Given the description of an element on the screen output the (x, y) to click on. 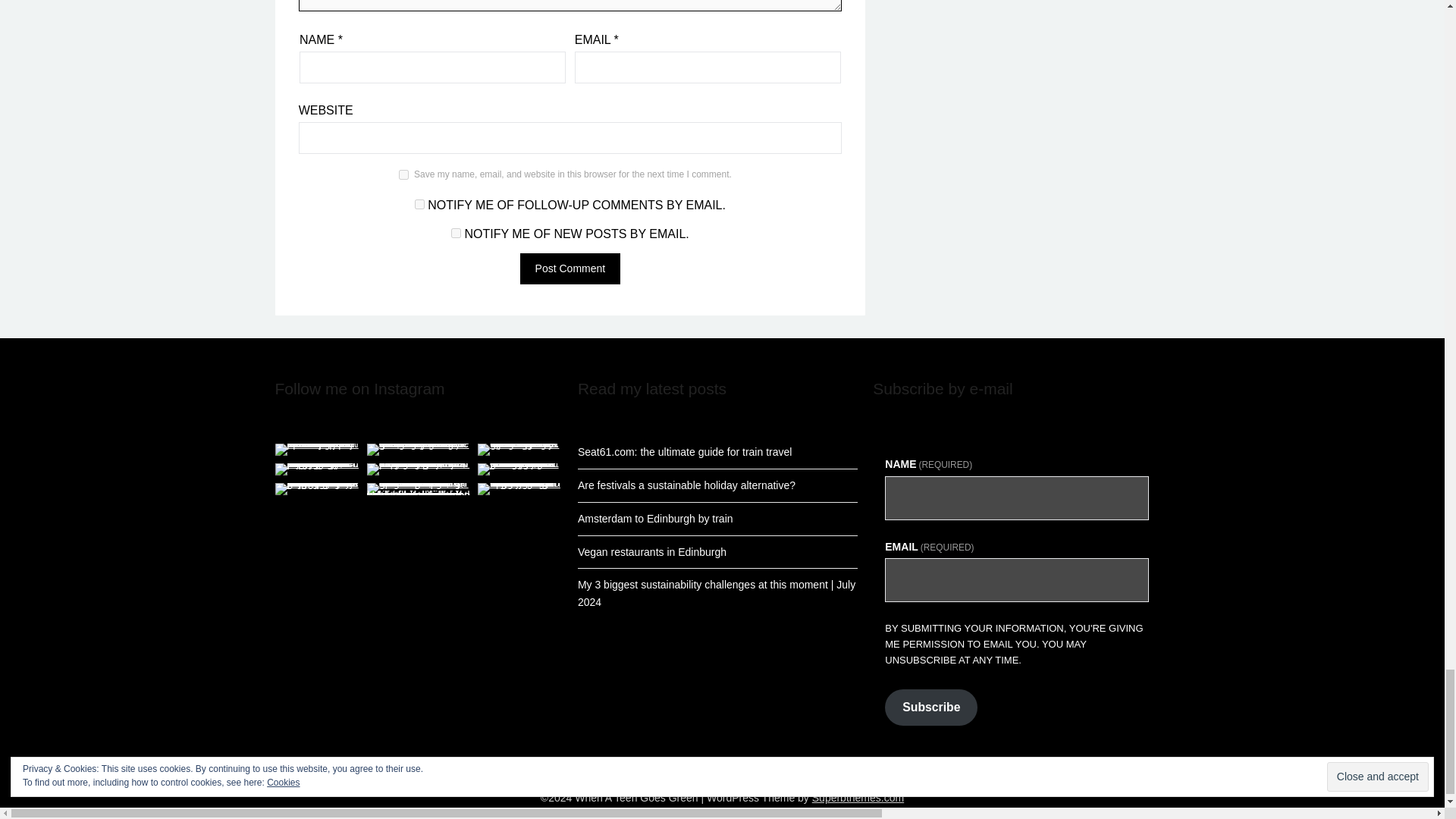
Post Comment (570, 268)
Post Comment (570, 268)
yes (403, 174)
subscribe (419, 204)
subscribe (456, 233)
